Given the description of an element on the screen output the (x, y) to click on. 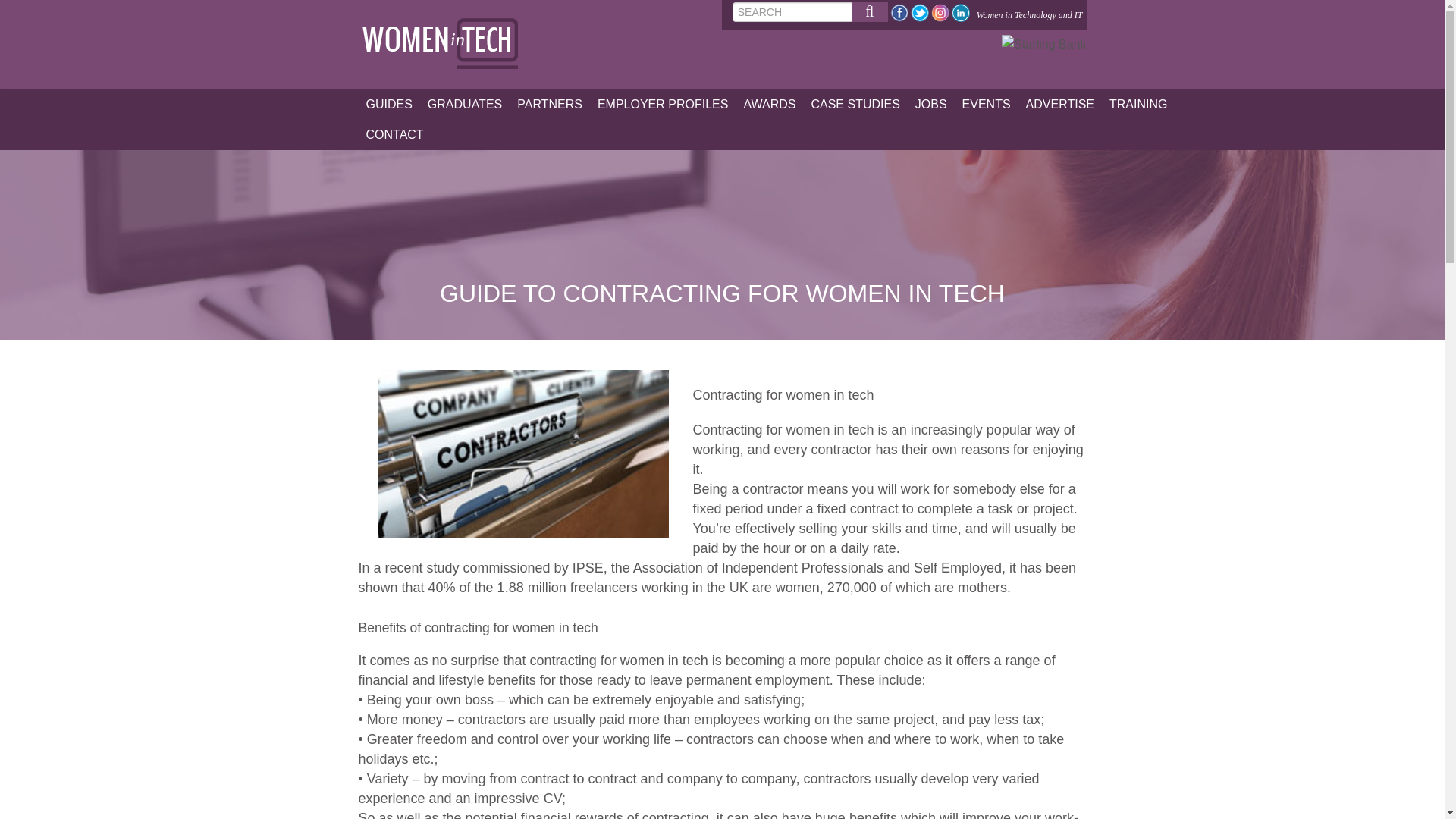
Training (1138, 104)
GUIDES (388, 104)
Events (986, 104)
Starling Bank (1043, 44)
CASE STUDIES (855, 104)
ADVERTISE (1059, 104)
Contact (394, 134)
CONTACT (394, 134)
Employer Profiles (662, 104)
Search (869, 12)
PARTNERS (549, 104)
Case Studies (855, 104)
Partners (549, 104)
Guides (388, 104)
GRADUATES (464, 104)
